Given the description of an element on the screen output the (x, y) to click on. 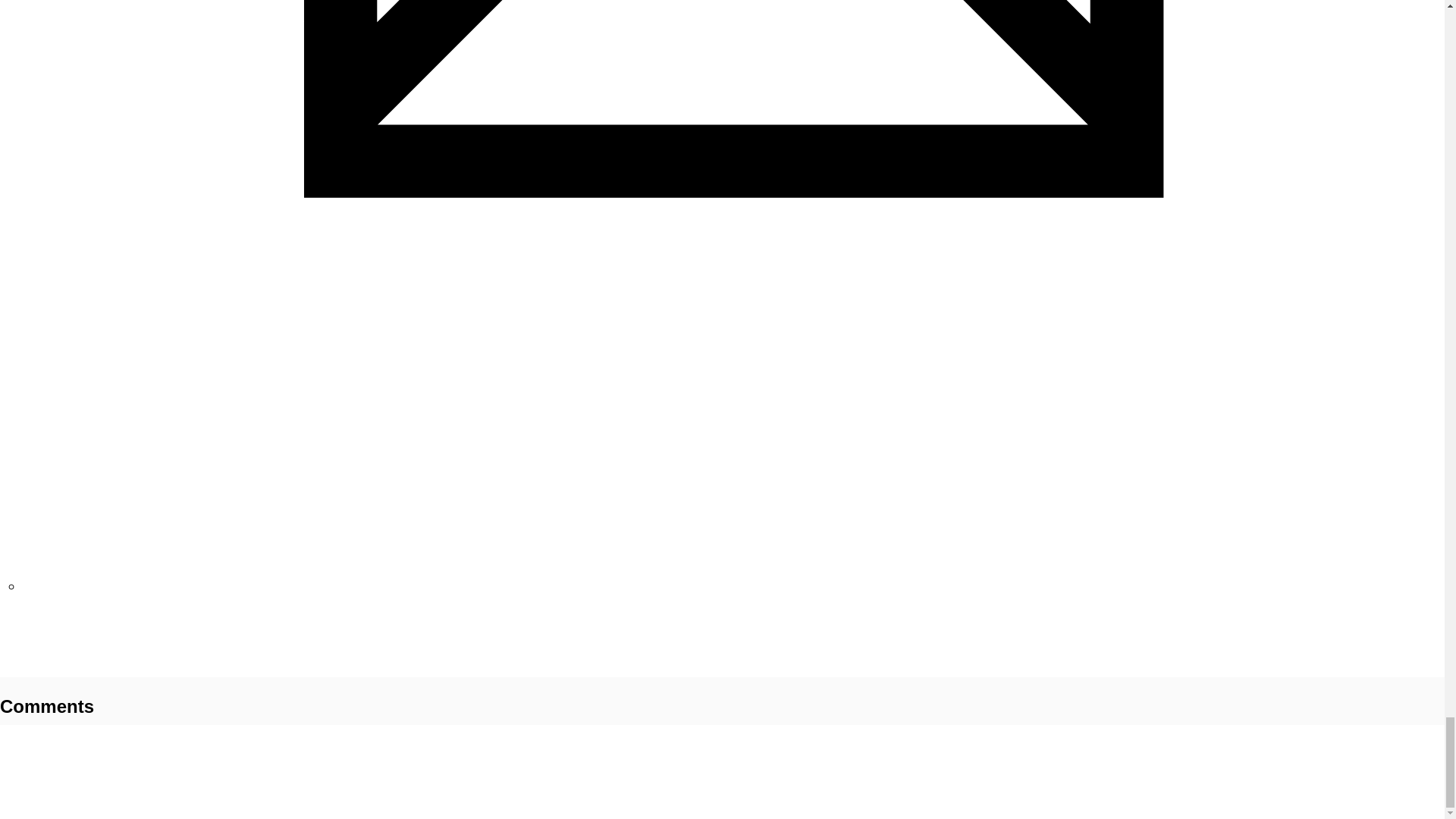
ADD NEW COMMENT (50, 645)
Share your thoughts and opinions related to this posting. (50, 645)
